Given the description of an element on the screen output the (x, y) to click on. 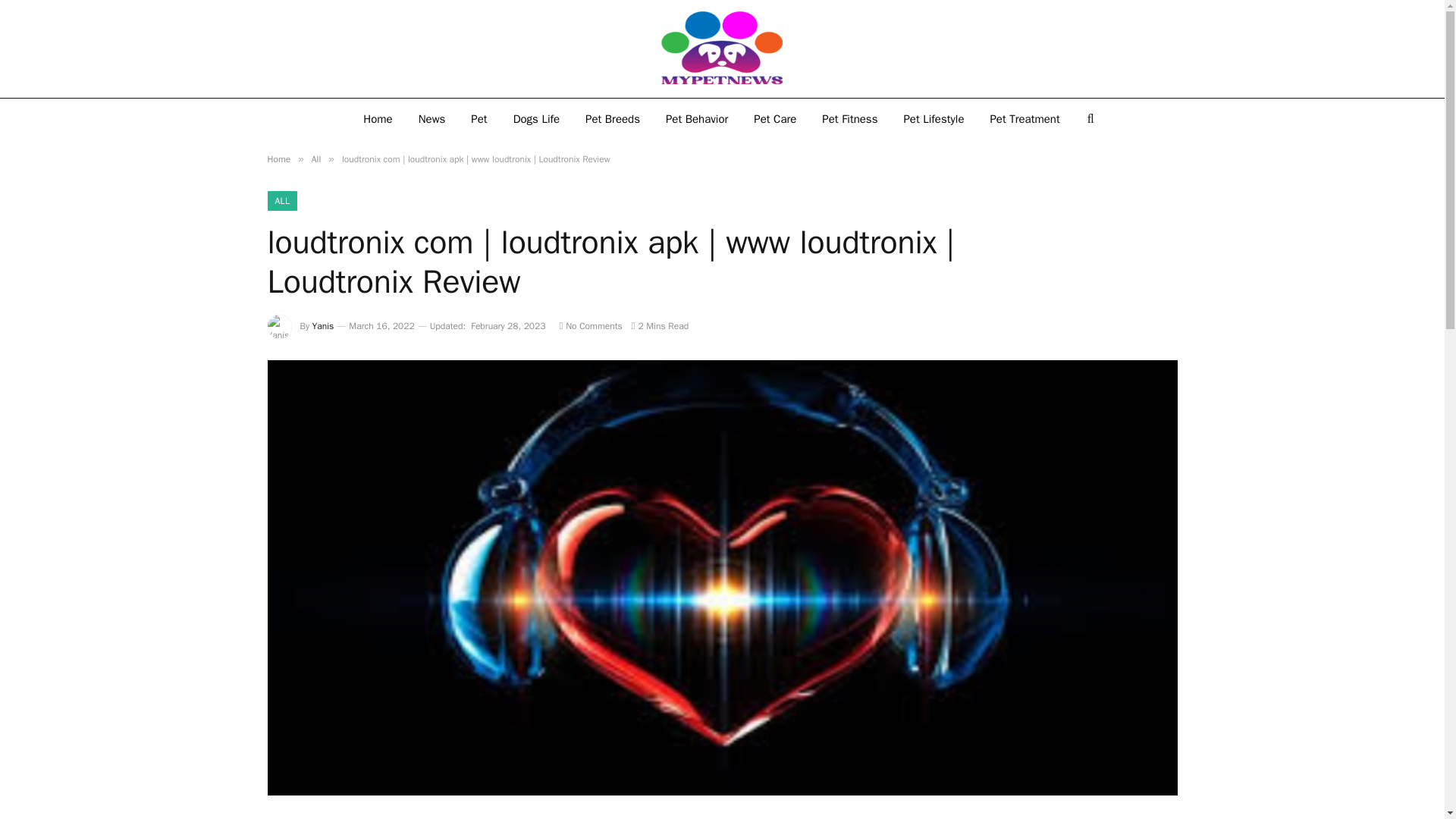
Home (377, 118)
Pet Care (775, 118)
mypetnews.org (721, 48)
Pet Treatment (1023, 118)
News (432, 118)
Pet Lifestyle (932, 118)
Pet (478, 118)
ALL (281, 200)
Dogs Life (536, 118)
Posts by Yanis (323, 326)
Yanis (323, 326)
Pet Breeds (612, 118)
No Comments (590, 326)
Pet Fitness (849, 118)
Pet Behavior (696, 118)
